Given the description of an element on the screen output the (x, y) to click on. 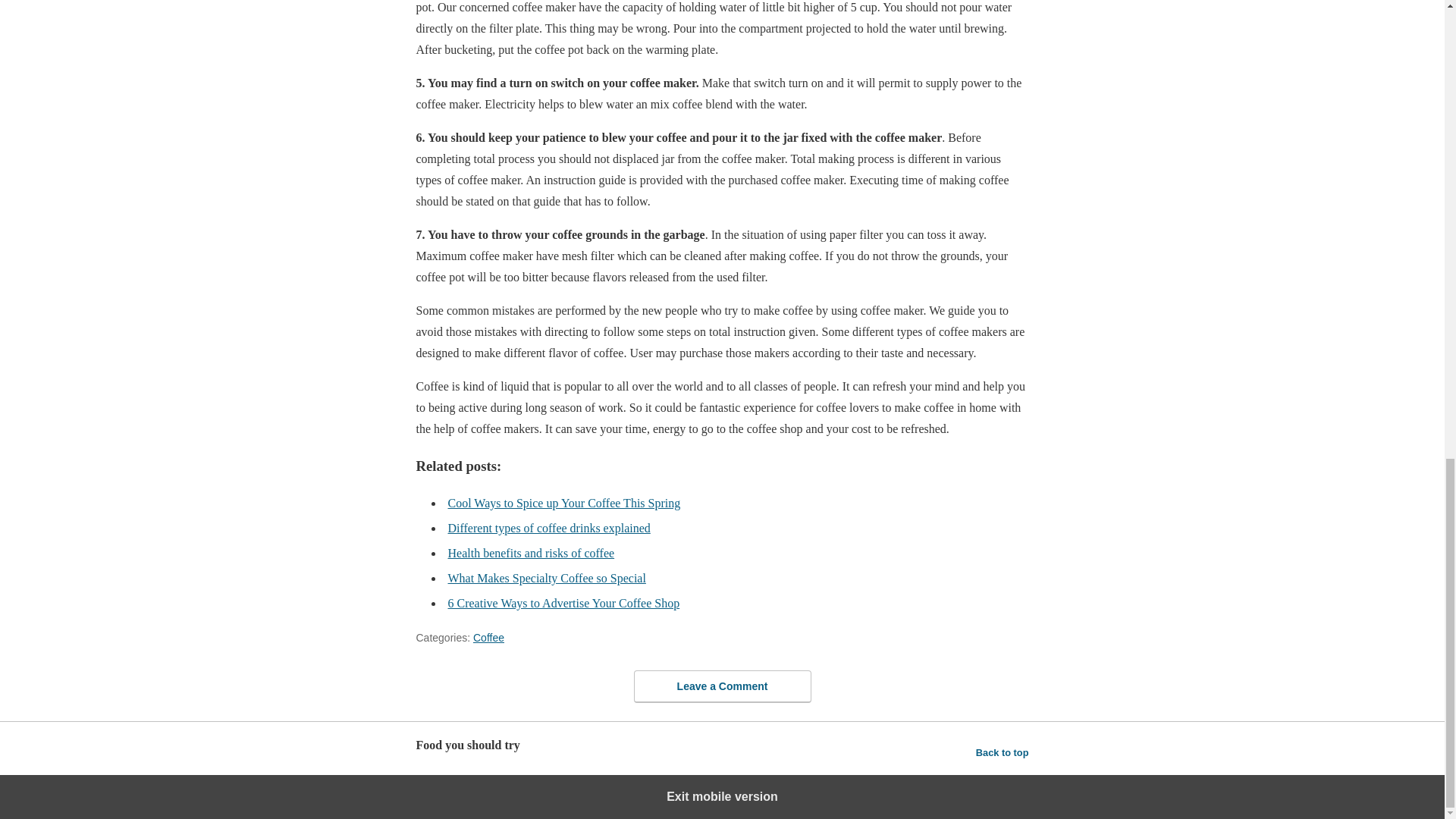
Different types of coffee drinks explained (547, 527)
Cool Ways to Spice up Your Coffee This Spring (562, 502)
6 Creative Ways to Advertise Your Coffee Shop (562, 603)
Coffee (488, 637)
6 Creative Ways to Advertise Your Coffee Shop (562, 603)
What Makes Specialty Coffee so Special (545, 577)
Leave a Comment (721, 686)
Back to top (1002, 752)
Cool Ways to Spice up Your Coffee This Spring (562, 502)
What Makes Specialty Coffee so Special (545, 577)
Different types of coffee drinks explained (547, 527)
Health benefits and risks of coffee (530, 553)
